Given the description of an element on the screen output the (x, y) to click on. 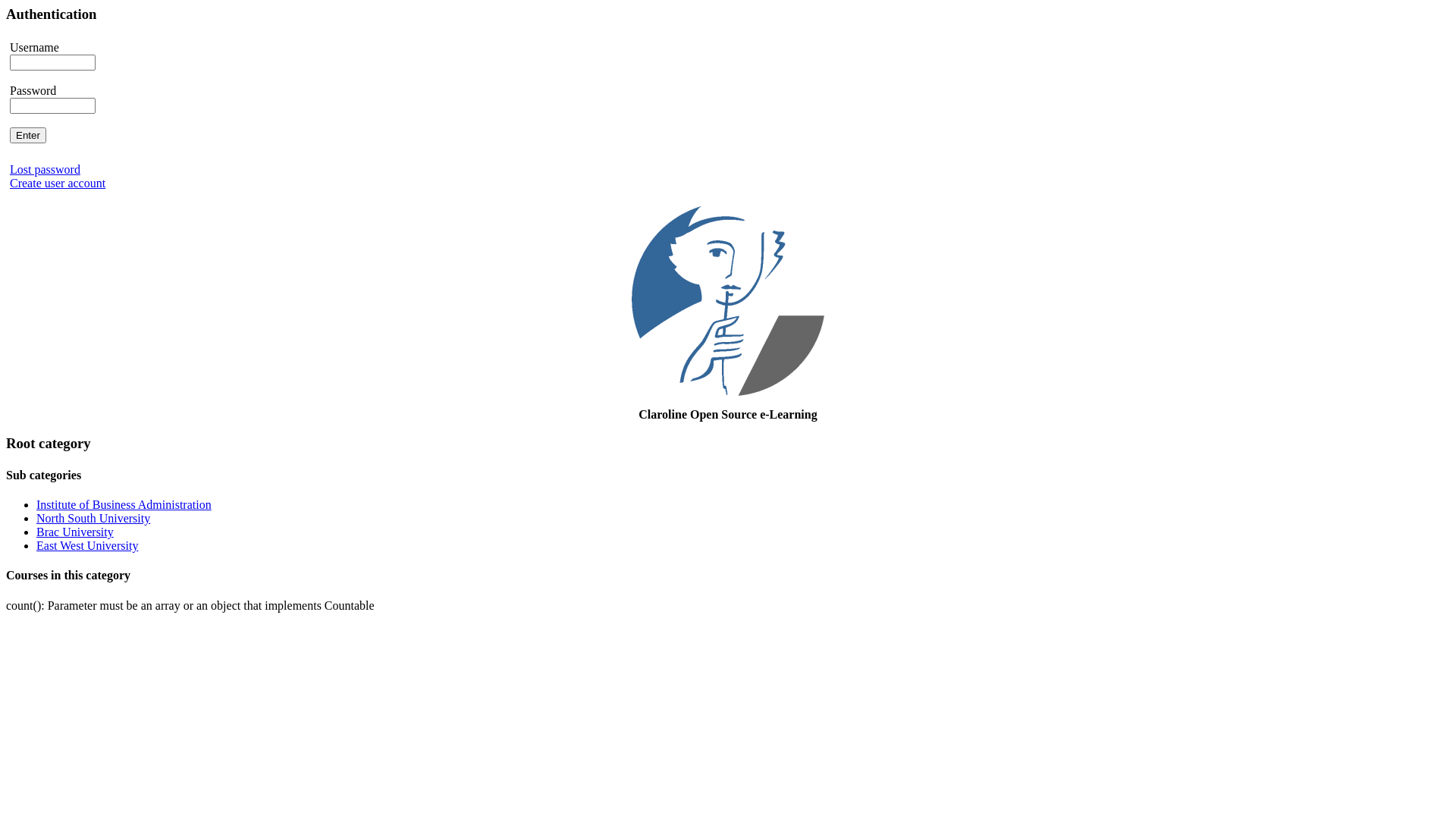
Institute of Business Administration Element type: text (123, 504)
Brac University Element type: text (74, 531)
North South University Element type: text (93, 517)
Enter Element type: text (27, 135)
East West University Element type: text (87, 545)
Create user account Element type: text (57, 182)
Lost password Element type: text (44, 169)
